Given the description of an element on the screen output the (x, y) to click on. 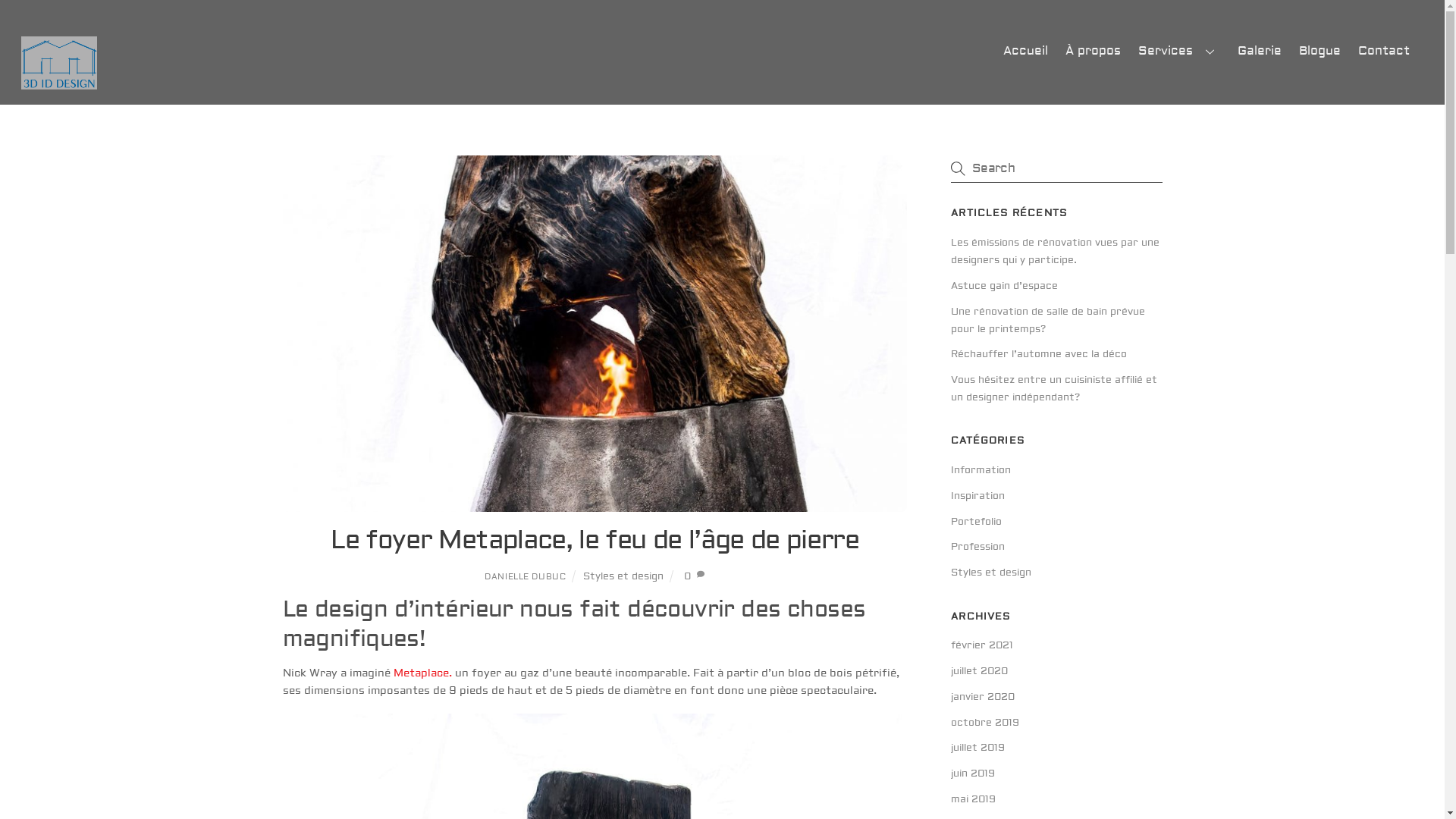
Styles et design Element type: text (990, 572)
Styles et design Element type: text (623, 576)
DANIELLE DUBUC Element type: text (524, 576)
Profession Element type: text (977, 546)
Inspiration Element type: text (977, 495)
3D ID Design Element type: hover (59, 83)
Search Element type: hover (1055, 168)
Blogue Element type: text (1320, 50)
janvier 2020 Element type: text (982, 696)
juillet 2019 Element type: text (977, 747)
0 Element type: text (687, 576)
Metaplace. Element type: text (421, 673)
Accueil Element type: text (1024, 50)
Services Element type: text (1179, 50)
octobre 2019 Element type: text (984, 722)
Nick_Wray-14 crop Element type: hover (594, 333)
Logo-3diddesign-RVB_bleu-blanc transp Element type: hover (59, 62)
Portefolio Element type: text (975, 521)
juillet 2020 Element type: text (978, 671)
Contact Element type: text (1384, 50)
Information Element type: text (980, 470)
Galerie Element type: text (1259, 50)
mai 2019 Element type: text (972, 799)
juin 2019 Element type: text (972, 773)
